Given the description of an element on the screen output the (x, y) to click on. 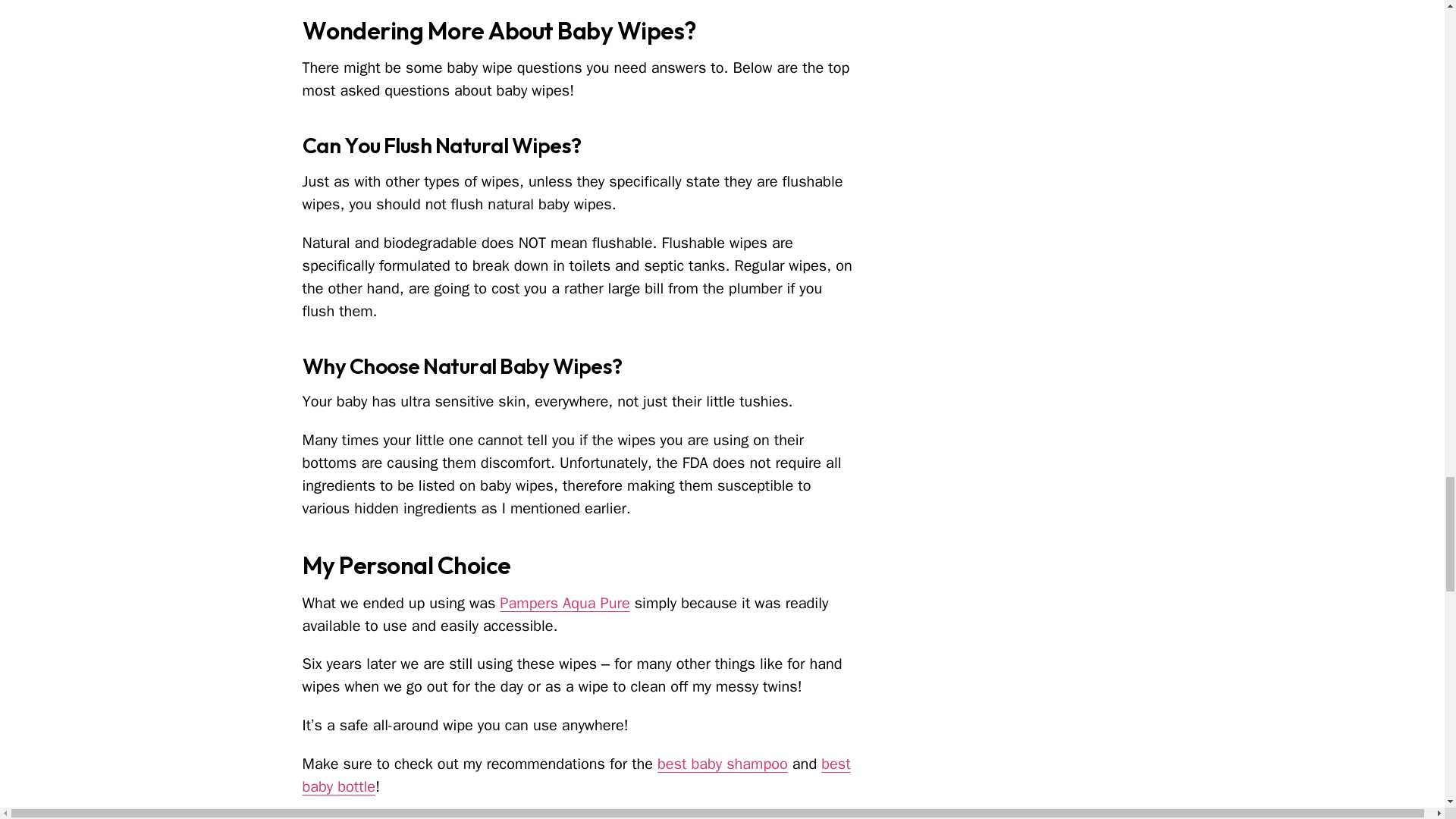
Pampers Aqua Pure (563, 602)
best baby bottle (575, 775)
best baby shampoo (722, 763)
